Given the description of an element on the screen output the (x, y) to click on. 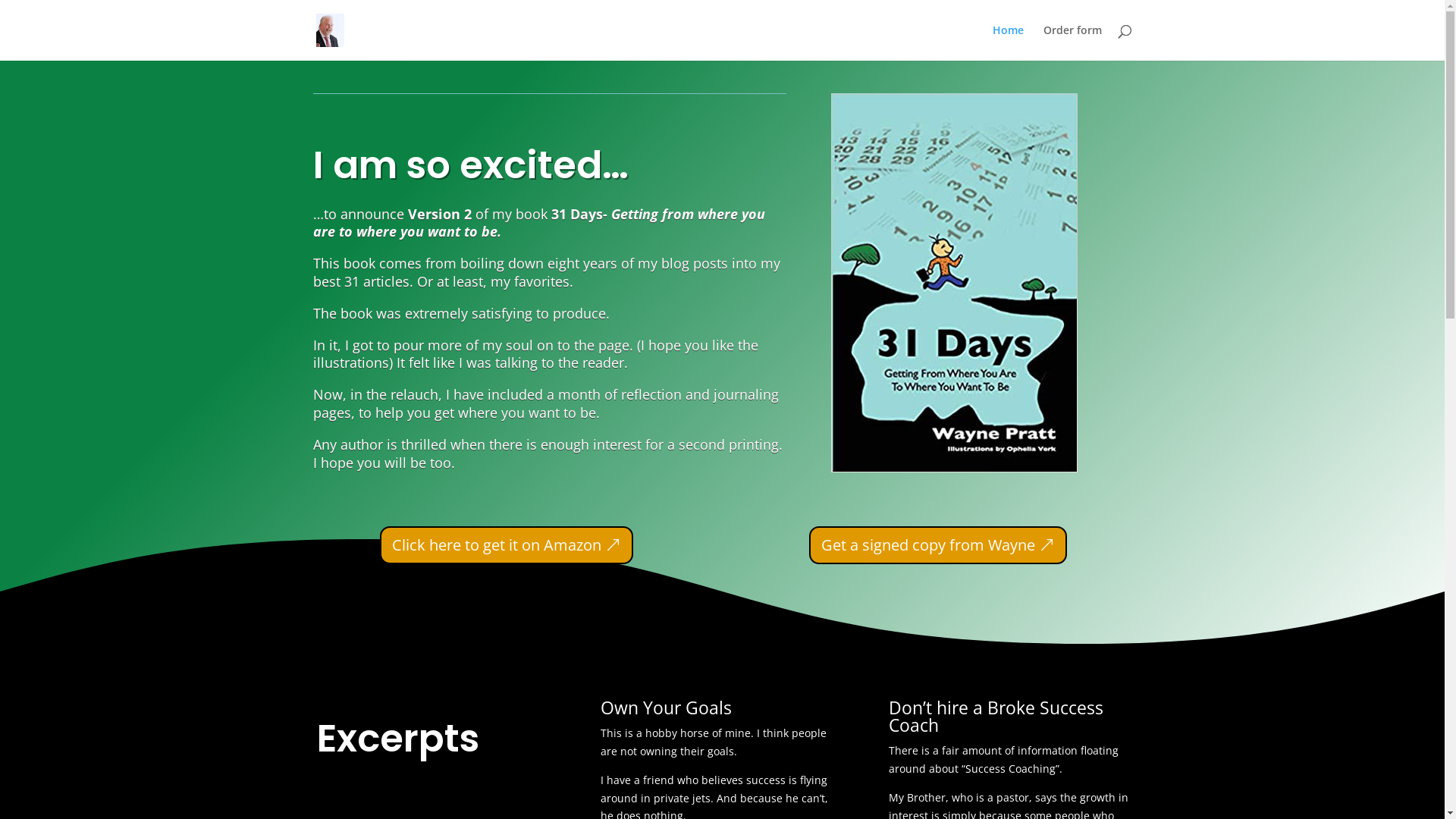
Click here to get it on Amazon Element type: text (506, 545)
Home Element type: text (1006, 42)
Get a signed copy from Wayne Element type: text (937, 545)
Order form Element type: text (1072, 42)
31Days Element type: hover (954, 282)
Own Your Goals Element type: text (665, 707)
